Given the description of an element on the screen output the (x, y) to click on. 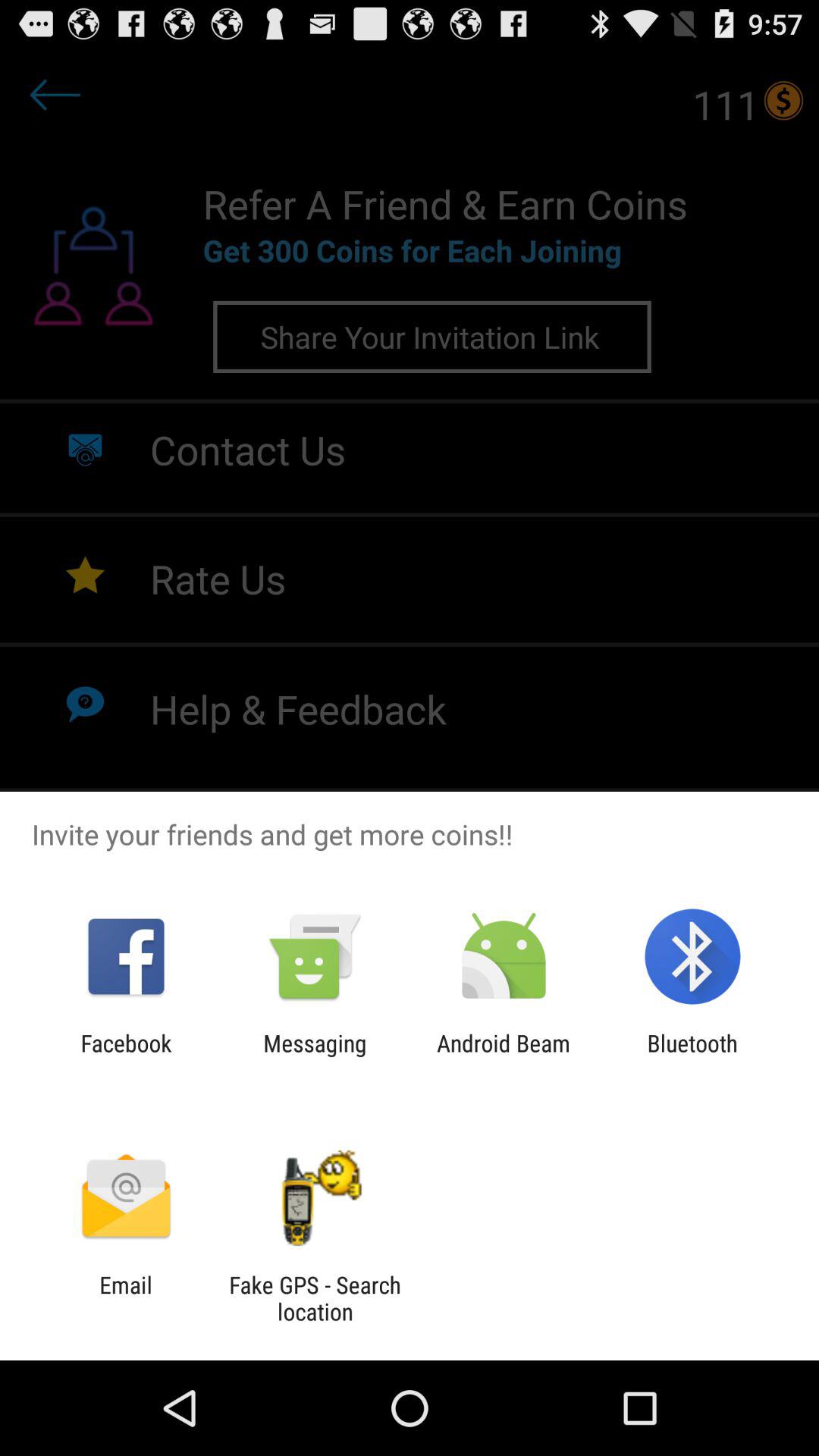
flip until messaging app (314, 1056)
